Given the description of an element on the screen output the (x, y) to click on. 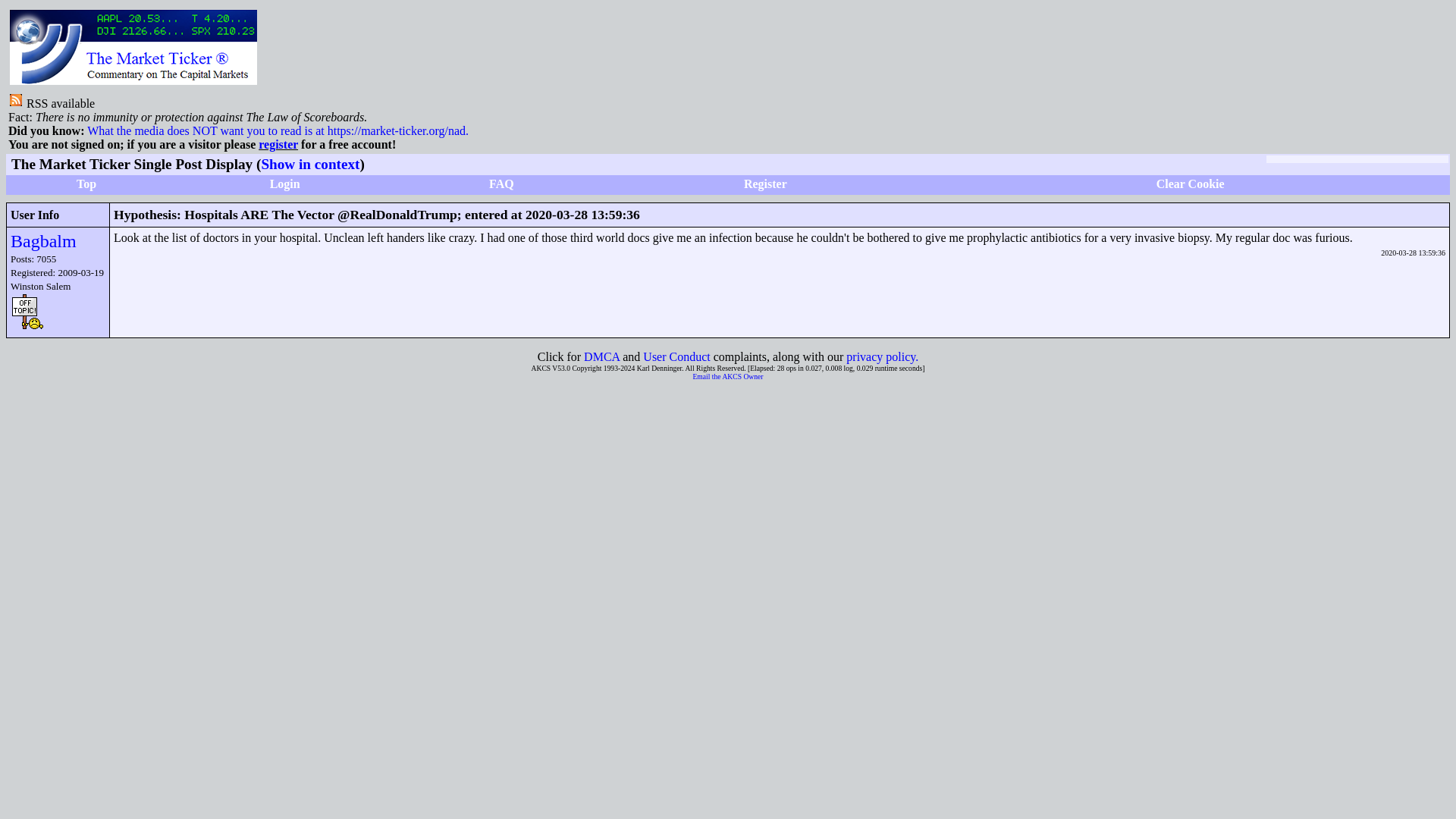
DMCA (601, 356)
User Conduct (676, 356)
Bagbalm (43, 240)
Show in context (309, 163)
privacy policy. (881, 356)
Clear Cookie (1190, 183)
register (278, 144)
Login (284, 183)
Register (765, 183)
Top (86, 183)
FAQ (501, 183)
